Given the description of an element on the screen output the (x, y) to click on. 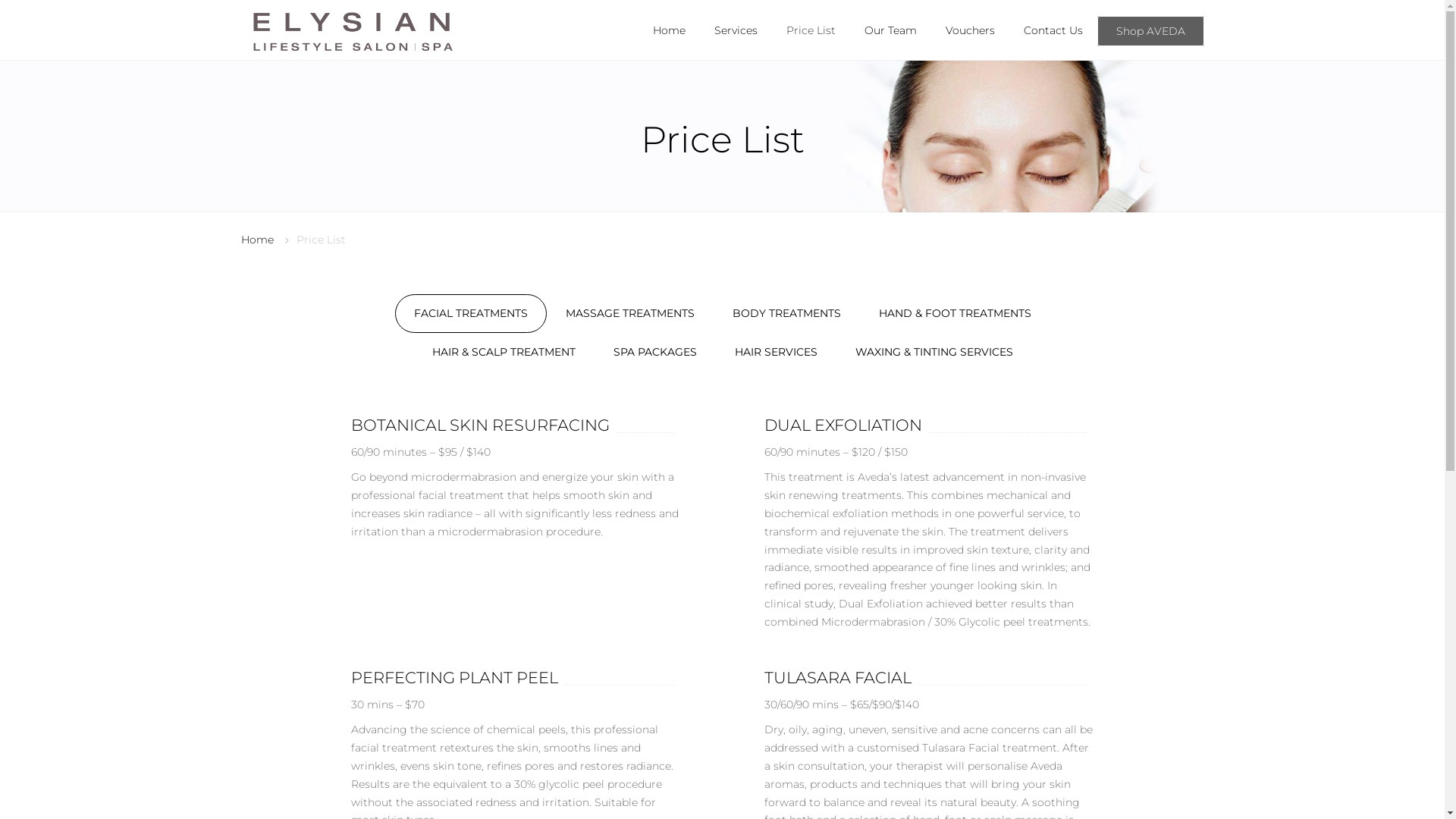
HAIR SERVICES Element type: text (775, 351)
Services Element type: text (735, 30)
BODY TREATMENTS Element type: text (785, 313)
Vouchers Element type: text (969, 30)
Our Team Element type: text (890, 30)
Price List Element type: text (810, 30)
SPA PACKAGES Element type: text (654, 351)
HAIR & SCALP TREATMENT Element type: text (502, 351)
FACIAL TREATMENTS Element type: text (470, 313)
Home Element type: text (257, 239)
HAND & FOOT TREATMENTS Element type: text (954, 313)
MASSAGE TREATMENTS Element type: text (629, 313)
WAXING & TINTING SERVICES Element type: text (933, 351)
Home Element type: text (668, 30)
Shop AVEDA Element type: text (1149, 30)
Contact Us Element type: text (1053, 30)
